Given the description of an element on the screen output the (x, y) to click on. 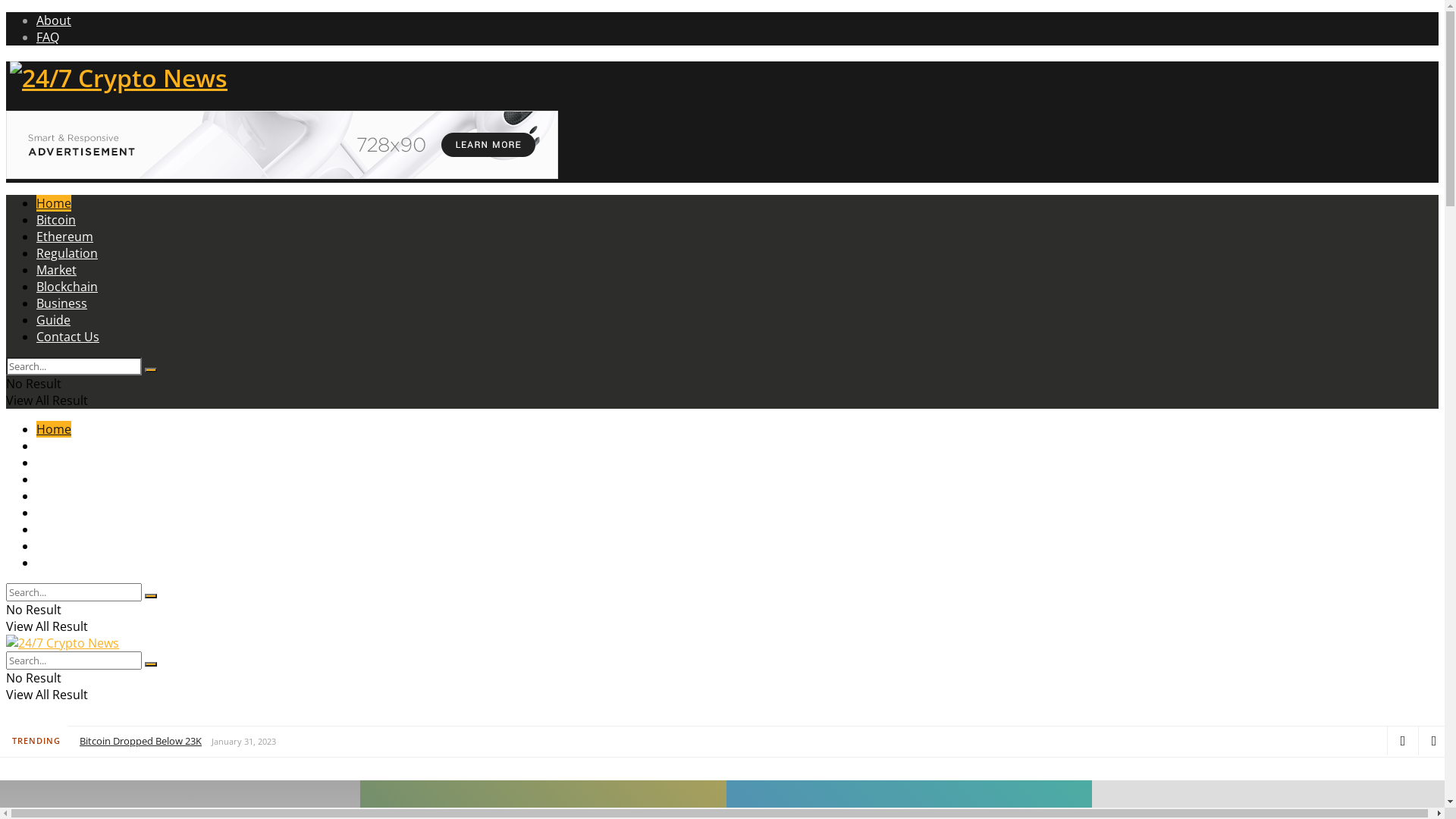
Ethereum Element type: text (64, 236)
Market Element type: text (56, 269)
Bitcoin Dropped Below 23K Element type: text (140, 740)
Bitcoin Element type: text (55, 219)
24/7 Crypto News Element type: text (116, 77)
About Element type: text (53, 20)
Guide Element type: text (53, 545)
FAQ Element type: text (47, 36)
Contact Us Element type: text (67, 562)
Regulation Element type: text (66, 252)
Business Element type: text (61, 528)
Business Element type: text (61, 302)
Home Element type: text (53, 428)
Ethereum Element type: text (64, 462)
Blockchain Element type: text (66, 286)
Blockchain Element type: text (66, 512)
Contact Us Element type: text (67, 336)
Bitcoin Element type: text (55, 445)
Regulation Element type: text (66, 478)
Guide Element type: text (53, 319)
Home Element type: text (53, 202)
Market Element type: text (56, 495)
